Given the description of an element on the screen output the (x, y) to click on. 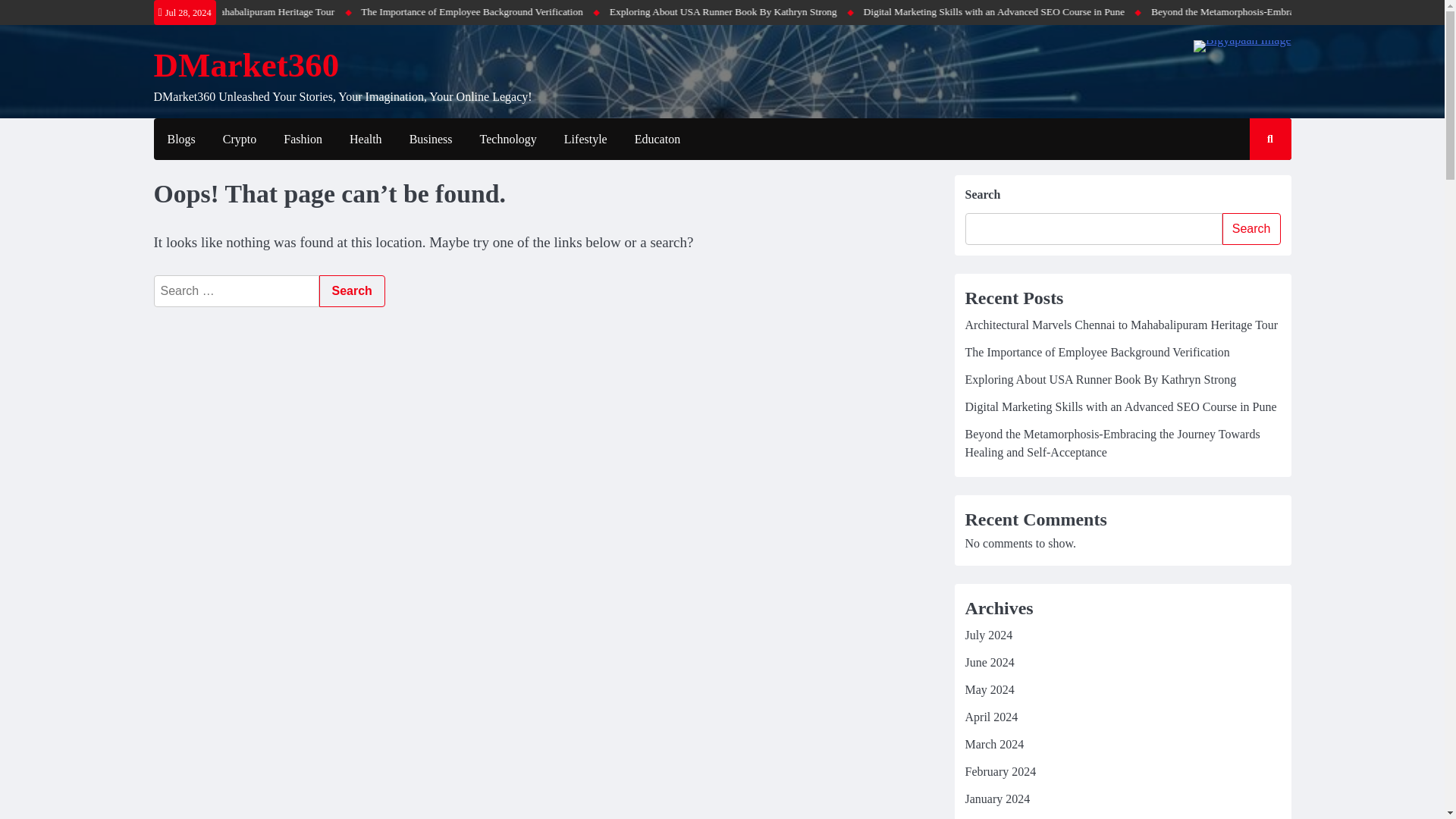
Technology (507, 139)
The Importance of Employee Background Verification (635, 11)
Search (1252, 228)
Exploring About USA Runner Book By Kathryn Strong (885, 11)
Search (1256, 183)
Fashion (302, 139)
DMarket360 (245, 64)
Architectural Marvels Chennai to Mahabalipuram Heritage Tour (368, 11)
Digital Marketing Skills with an Advanced SEO Course in Pune (1119, 406)
Digital Marketing Skills with an Advanced SEO Course in Pune (1154, 11)
February 2024 (999, 771)
April 2024 (990, 716)
March 2024 (993, 744)
Exploring About USA Runner Book By Kathryn Strong (1099, 379)
